Given the description of an element on the screen output the (x, y) to click on. 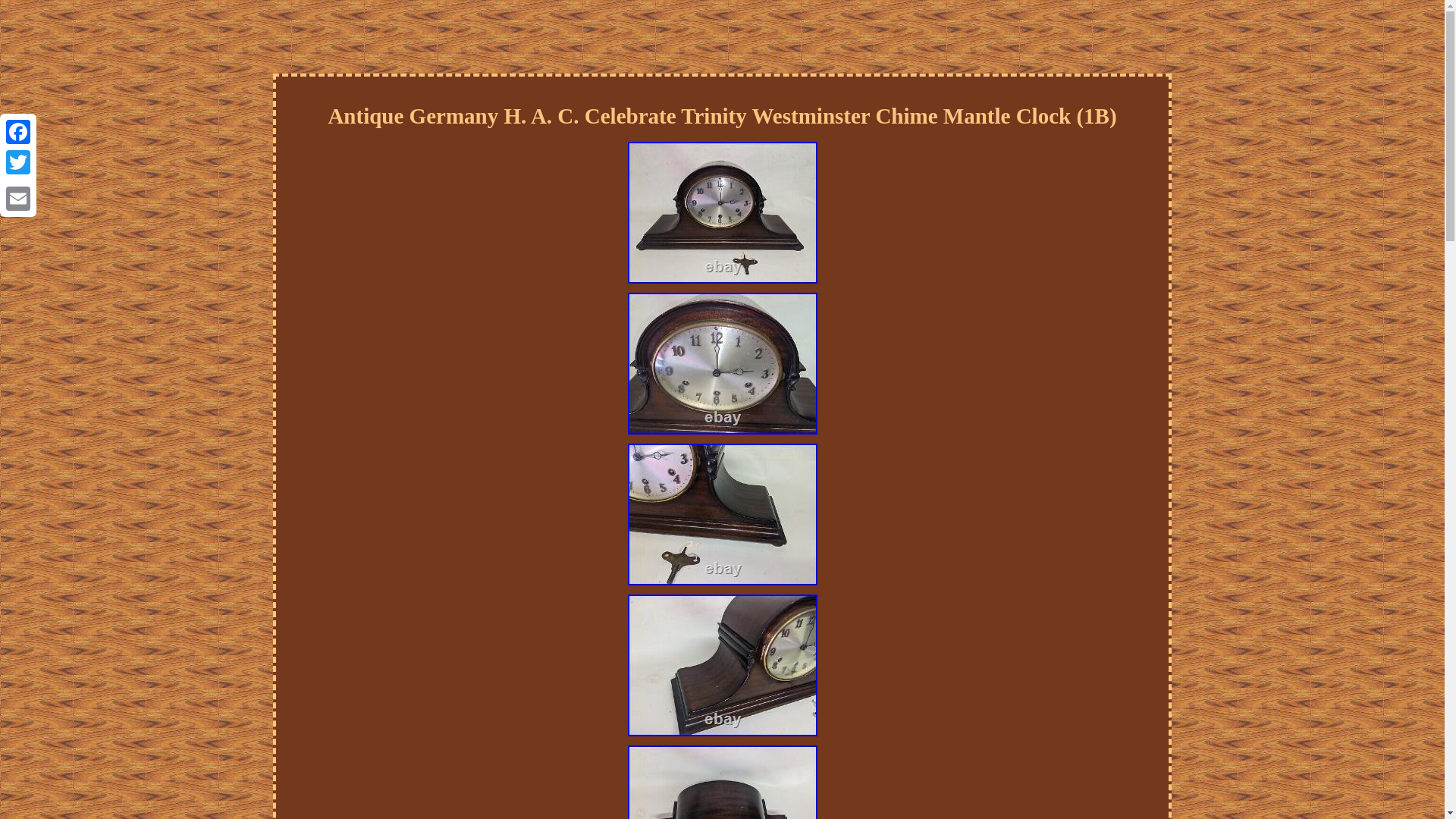
Email (17, 198)
Twitter (17, 162)
Facebook (17, 132)
